Given the description of an element on the screen output the (x, y) to click on. 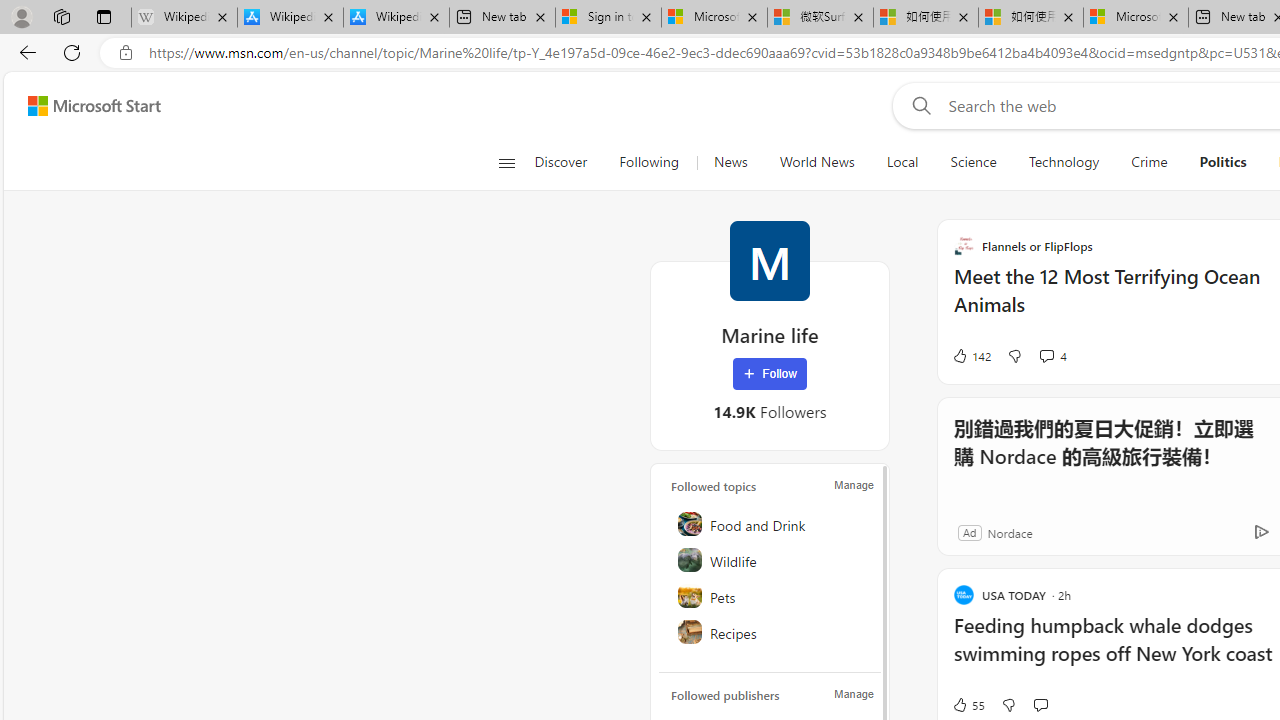
Food and Drink (771, 524)
55 Like (968, 704)
View comments 4 Comment (1046, 355)
